Given the description of an element on the screen output the (x, y) to click on. 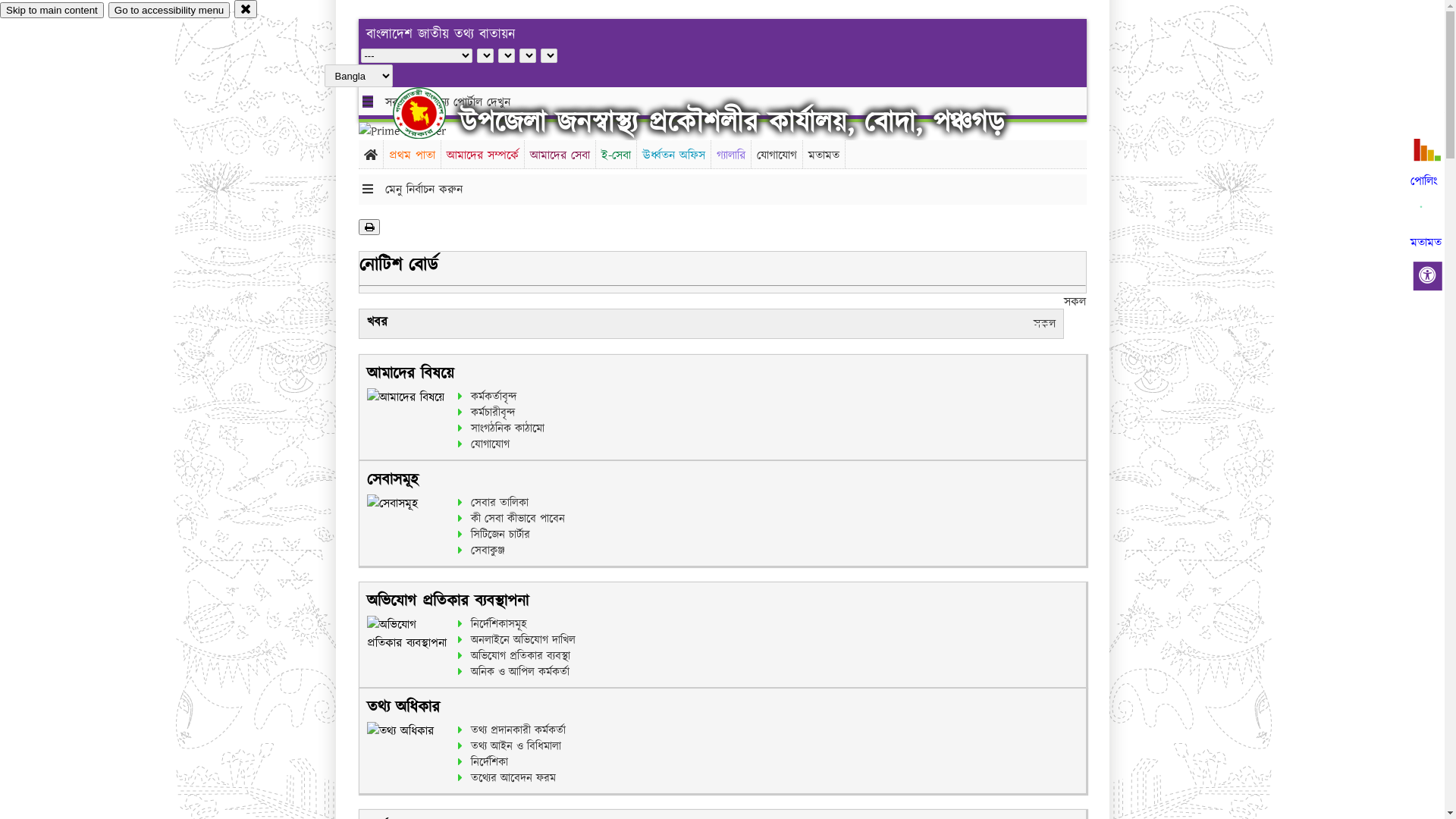
Go to accessibility menu Element type: text (168, 10)
Skip to main content Element type: text (51, 10)

                
             Element type: hover (431, 112)
close Element type: hover (245, 9)
